Given the description of an element on the screen output the (x, y) to click on. 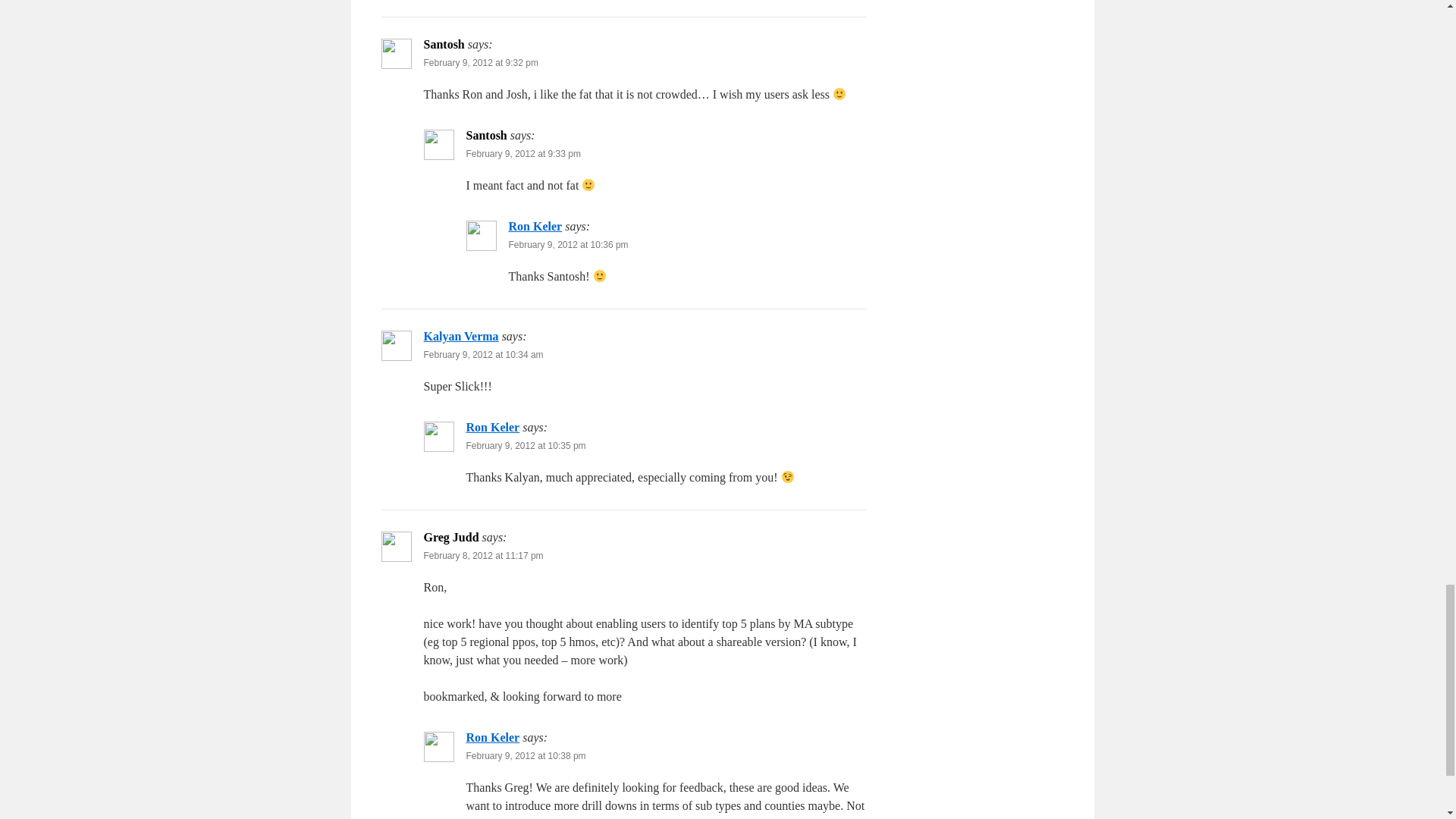
Ron Keler (535, 226)
February 9, 2012 at 9:33 pm (522, 153)
February 9, 2012 at 9:32 pm (480, 62)
